Given the description of an element on the screen output the (x, y) to click on. 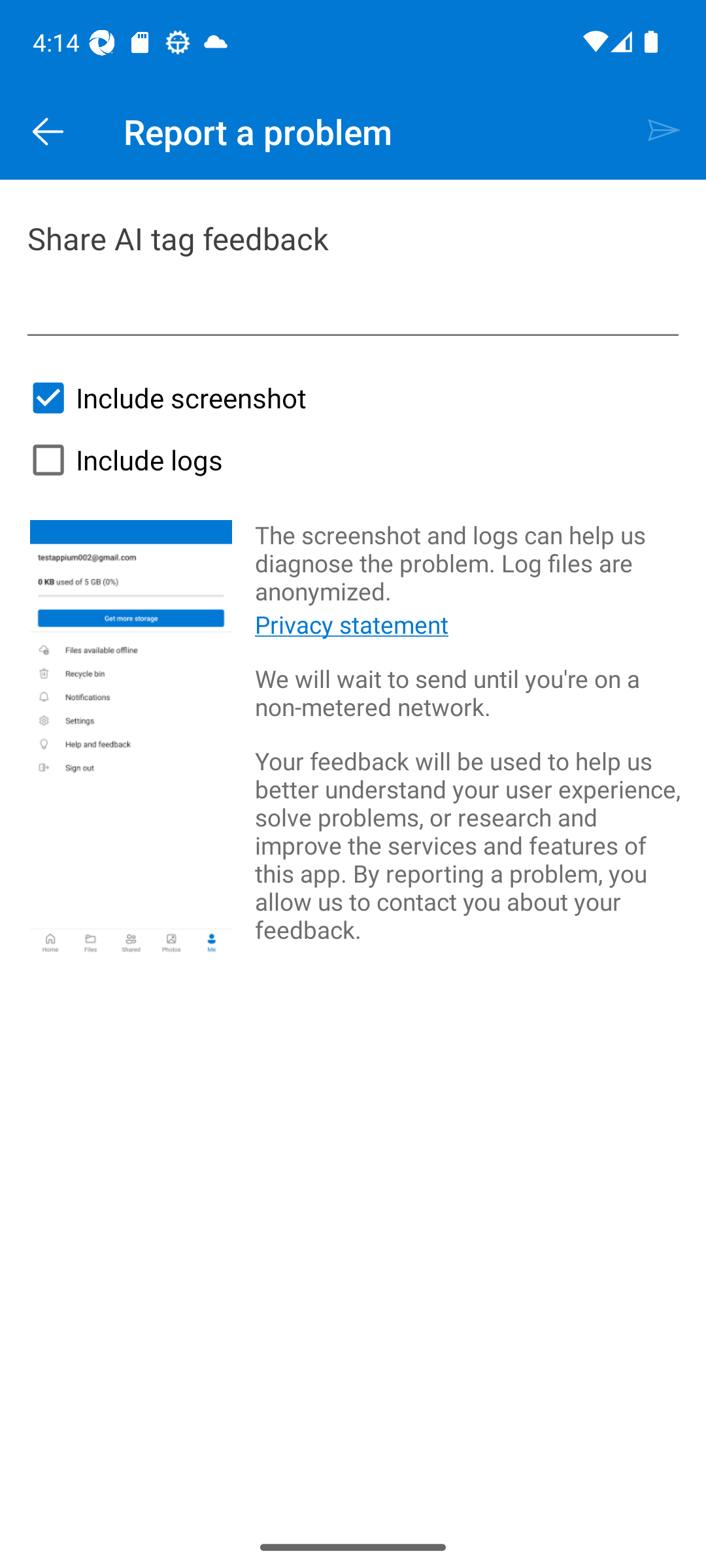
Navigate up (48, 131)
Send (664, 131)
Share AI tag feedback (352, 274)
Include screenshot (163, 397)
Include logs (122, 459)
